Given the description of an element on the screen output the (x, y) to click on. 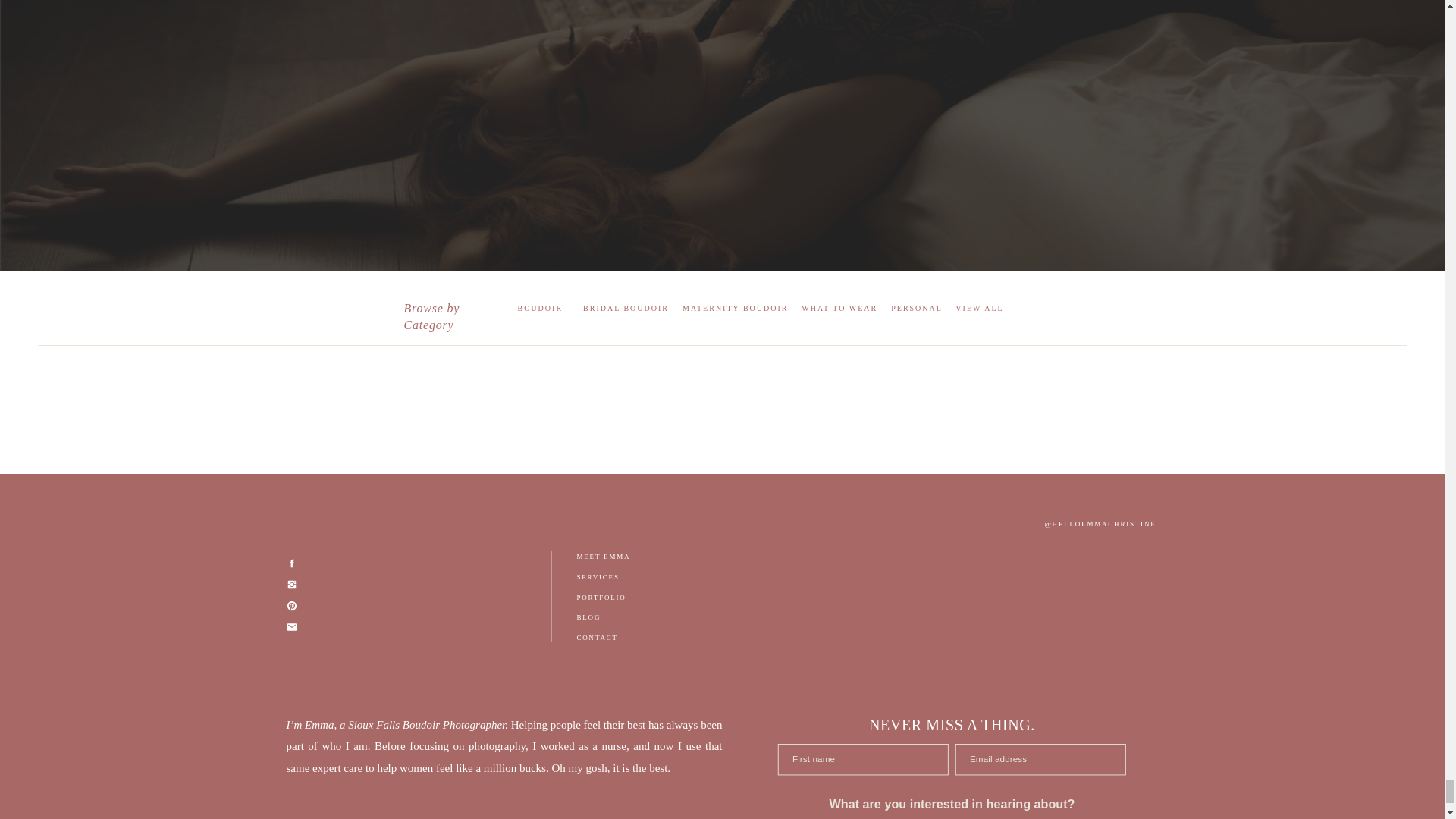
BOUDOIR (539, 307)
MEET EMMA (619, 557)
MATERNITY BOUDOIR (734, 307)
VIEW ALL (979, 307)
PERSONAL (916, 307)
BRIDAL BOUDOIR (625, 307)
WHAT TO WEAR (839, 307)
